Given the description of an element on the screen output the (x, y) to click on. 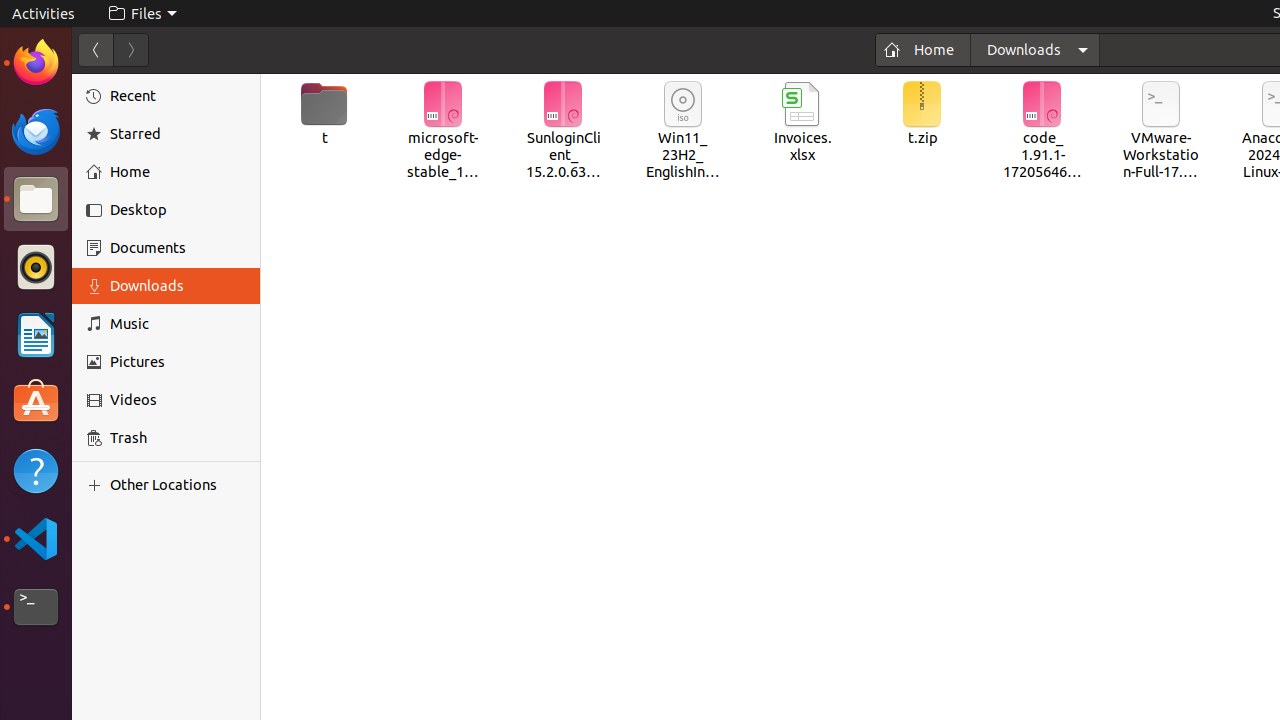
SunloginClient_15.2.0.63064_amd64.deb Element type: canvas (563, 131)
Desktop Element type: label (178, 210)
Music Element type: label (178, 324)
